Given the description of an element on the screen output the (x, y) to click on. 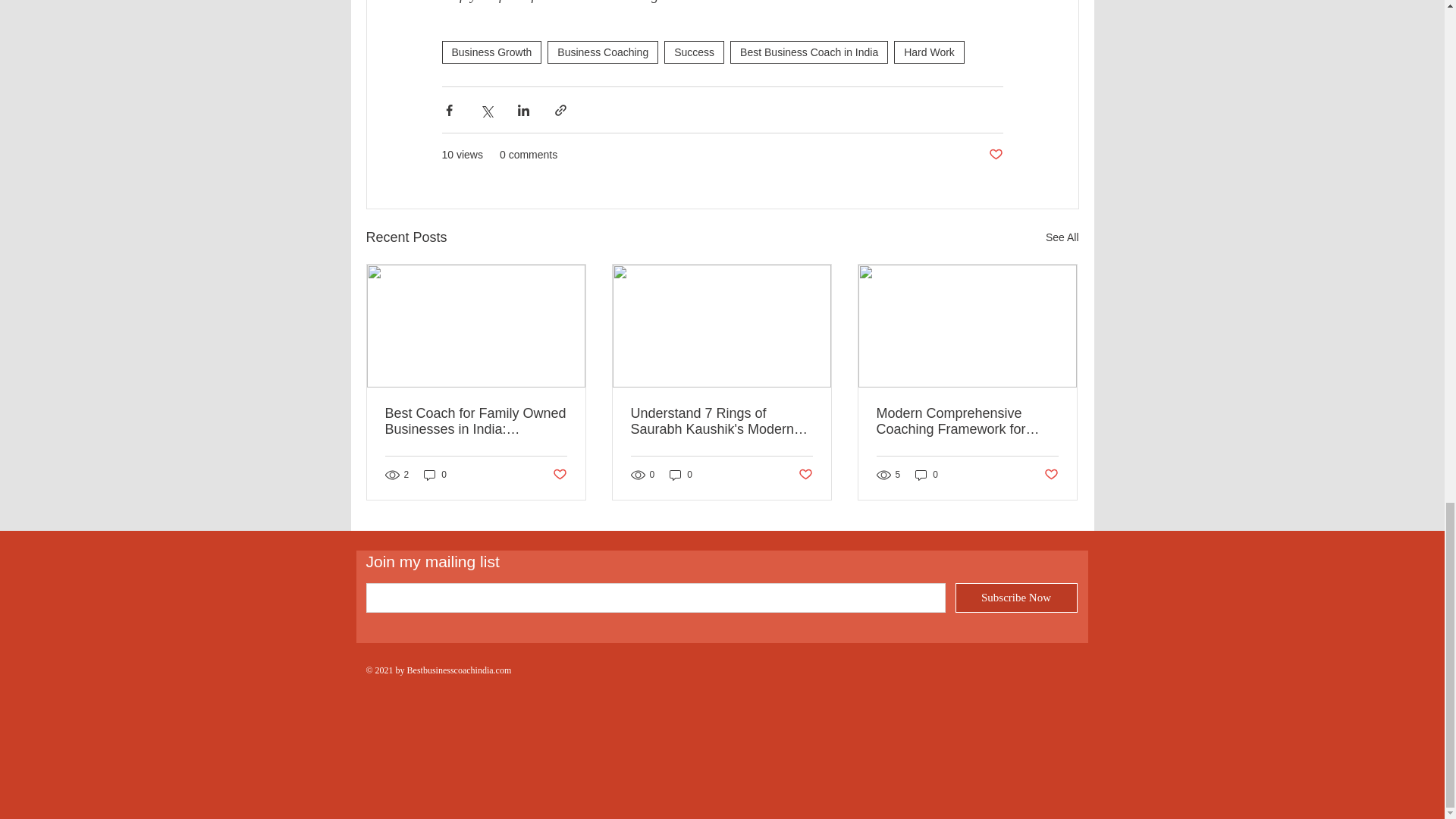
0 (681, 474)
Modern Comprehensive Coaching Framework for Peak Performance (967, 421)
0 (435, 474)
Business Growth (491, 51)
Success (693, 51)
Post not marked as liked (804, 474)
0 (926, 474)
Business Coaching (602, 51)
Post not marked as liked (558, 474)
